Given the description of an element on the screen output the (x, y) to click on. 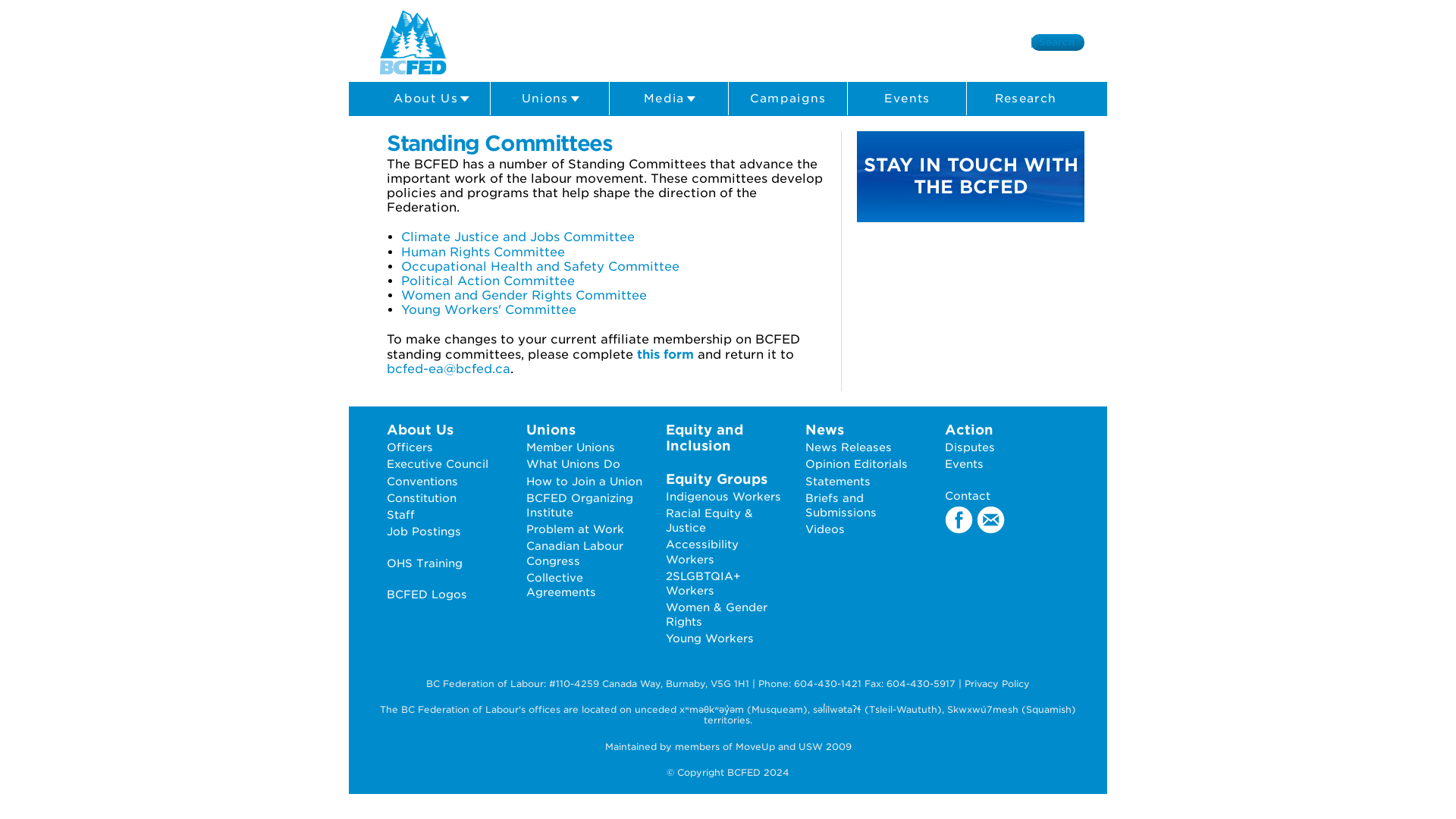
Facebook (958, 521)
Unions  (549, 98)
Email (990, 521)
About Us  (430, 98)
Media  (669, 98)
Skip to main content (696, 1)
